Given the description of an element on the screen output the (x, y) to click on. 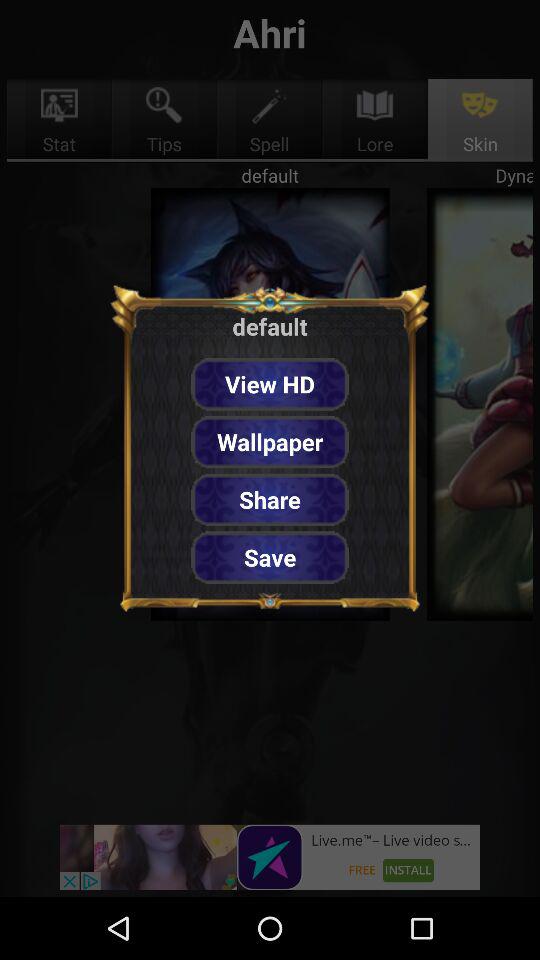
press button below wallpaper item (269, 499)
